Given the description of an element on the screen output the (x, y) to click on. 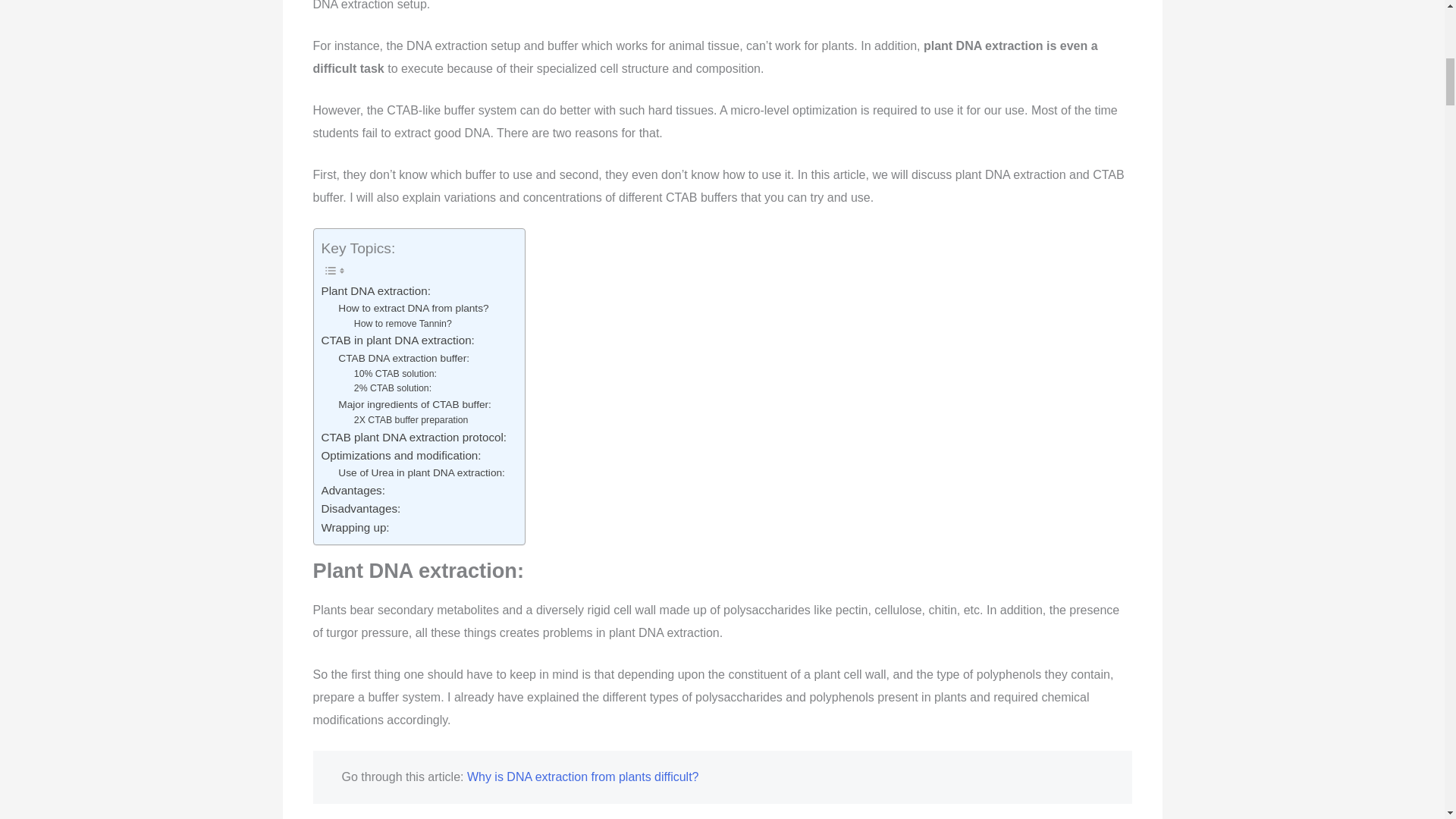
Why is DNA extraction from plants difficult? (582, 776)
Disadvantages:  (362, 508)
Major ingredients of CTAB buffer:  (415, 404)
Plant DNA extraction:  (377, 290)
2X CTAB buffer preparation  (411, 420)
Wrapping up:  (357, 527)
